Given the description of an element on the screen output the (x, y) to click on. 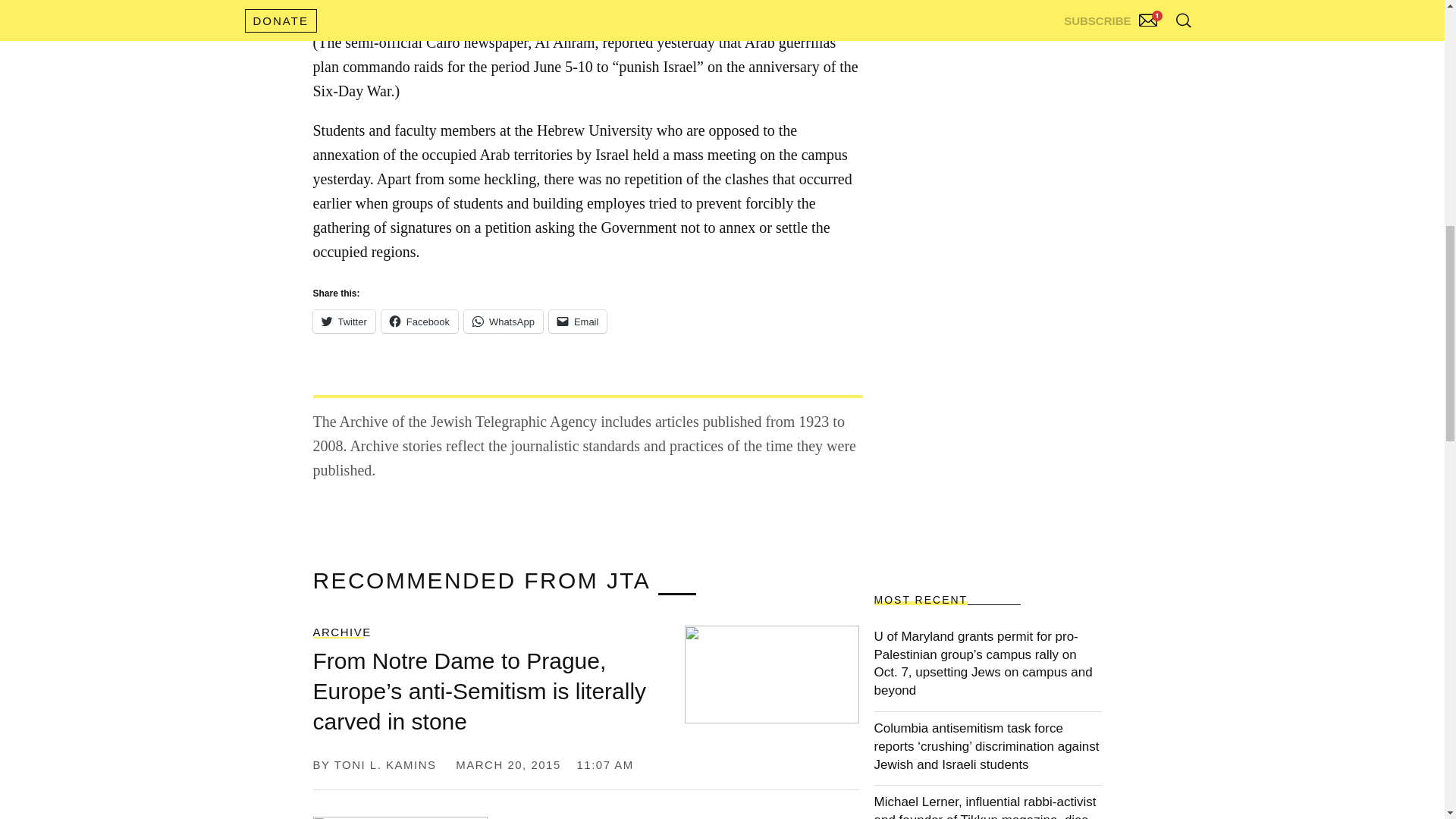
Click to email a link to a friend (577, 321)
Click to share on Twitter (343, 321)
Click to share on WhatsApp (503, 321)
Click to share on Facebook (419, 321)
